Given the description of an element on the screen output the (x, y) to click on. 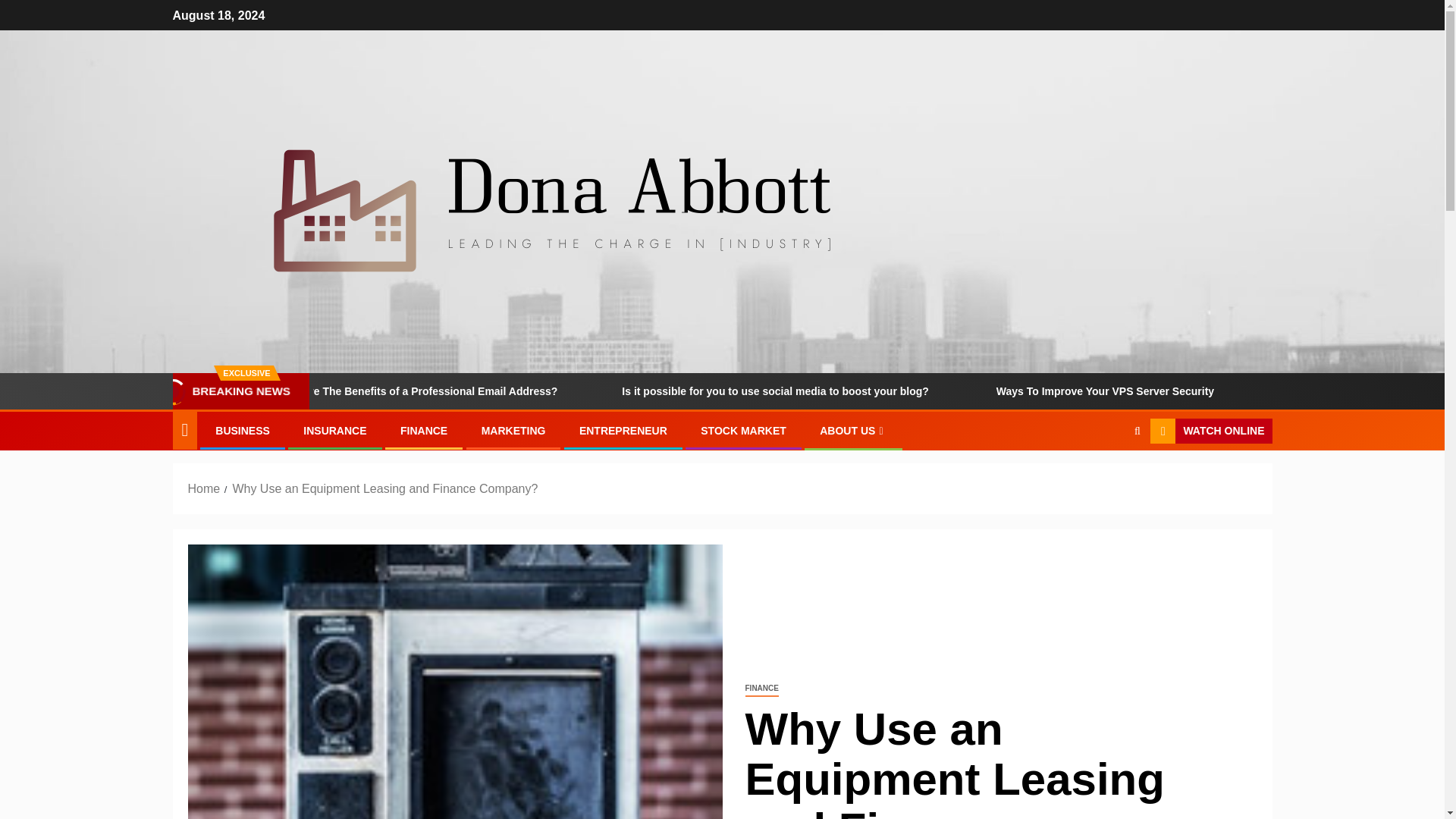
BUSINESS (242, 430)
ENTREPRENEUR (622, 430)
Why Use an Equipment Leasing and Finance Company? (384, 488)
MARKETING (513, 430)
ABOUT US (852, 430)
FINANCE (423, 430)
FINANCE (760, 688)
Search (1107, 477)
